Given the description of an element on the screen output the (x, y) to click on. 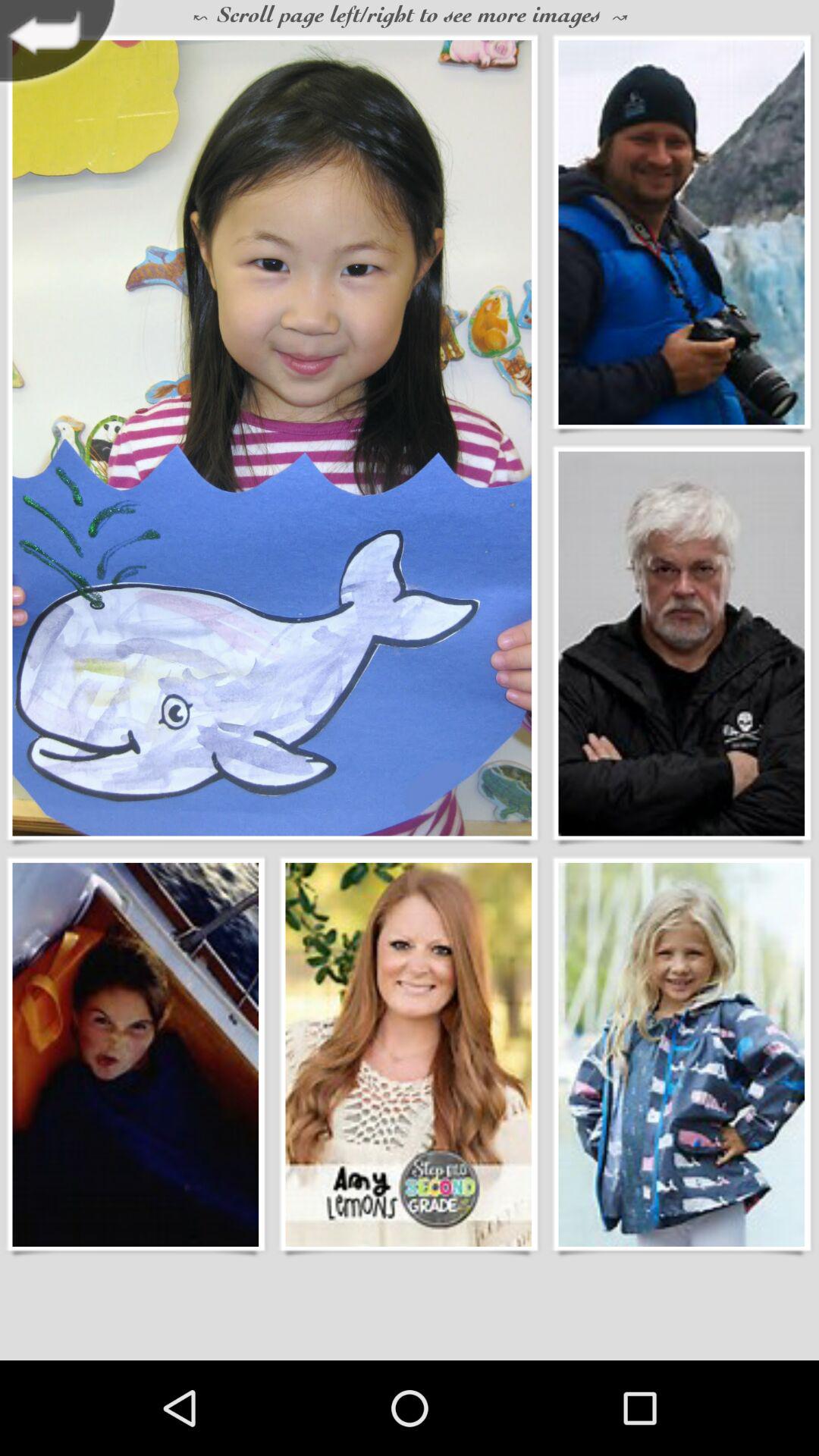
view image (271, 438)
